Given the description of an element on the screen output the (x, y) to click on. 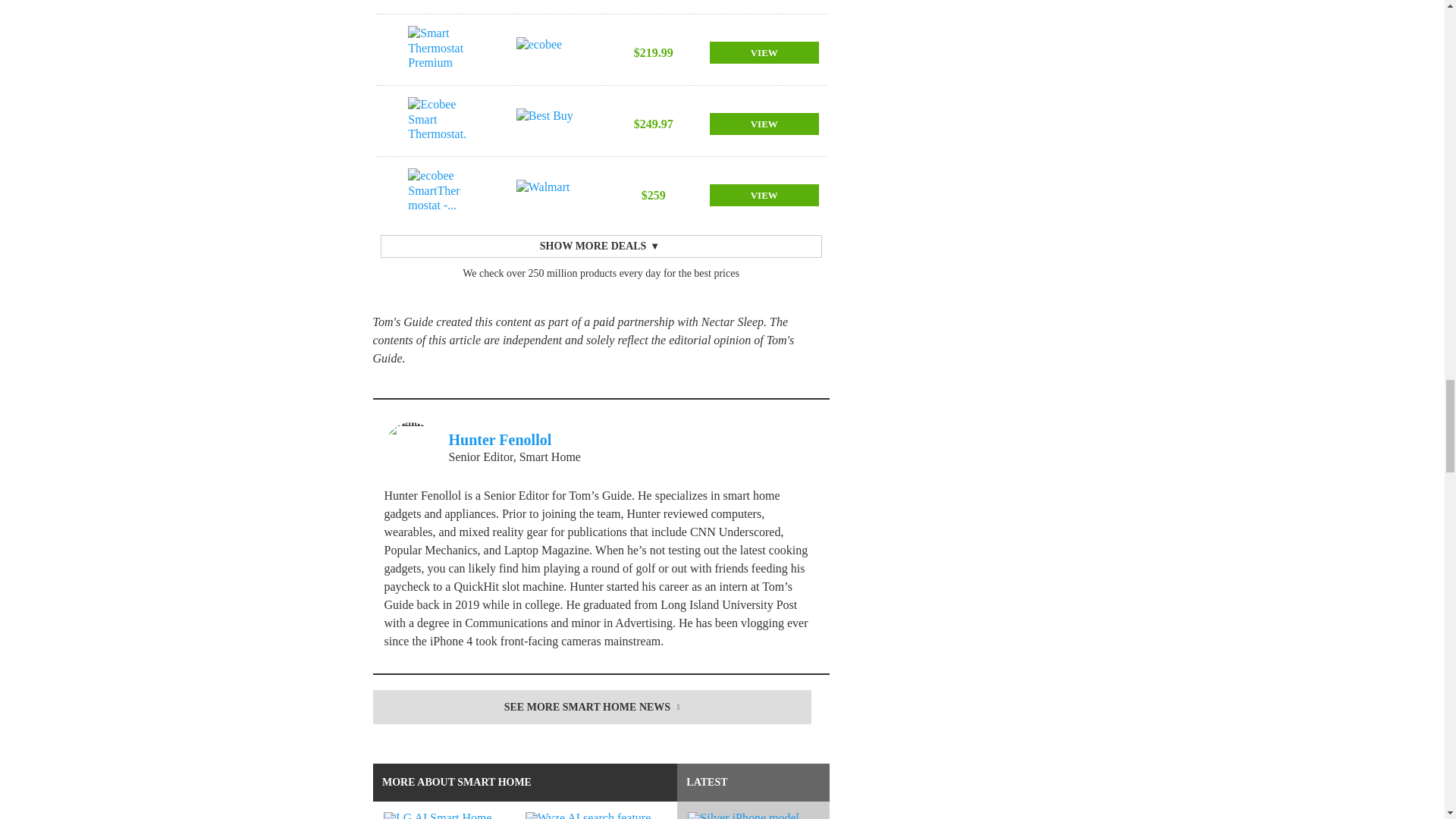
Walmart (546, 194)
Best Buy (546, 123)
Ecobee Smart Thermostat... (437, 3)
ecobee (546, 51)
Smart Thermostat Premium (437, 51)
Ecobee Smart Thermostat... (437, 123)
ecobee SmartThermostat -... (437, 194)
